Given the description of an element on the screen output the (x, y) to click on. 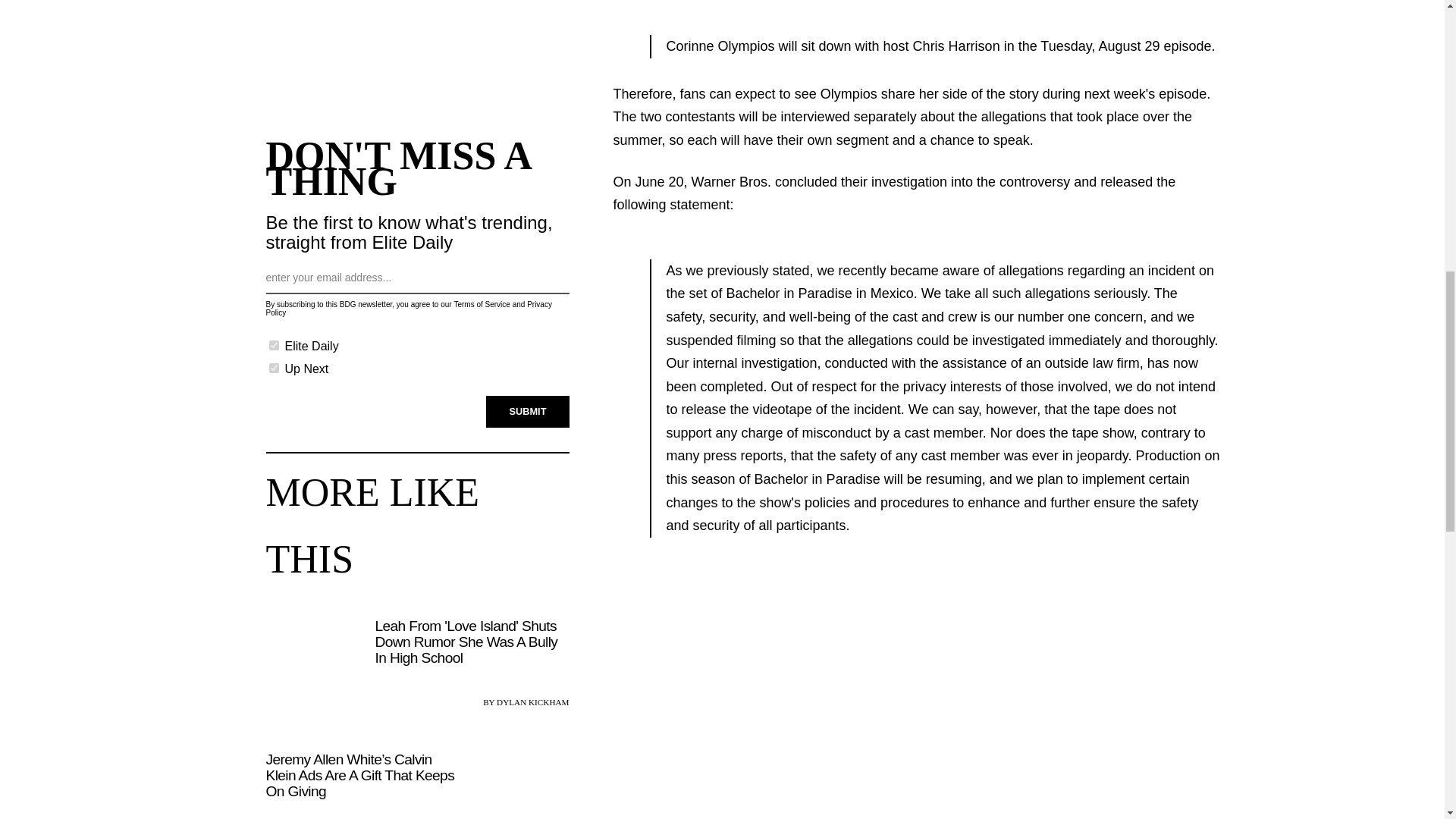
Terms of Service (480, 301)
Privacy Policy (407, 306)
SUBMIT (527, 409)
